Given the description of an element on the screen output the (x, y) to click on. 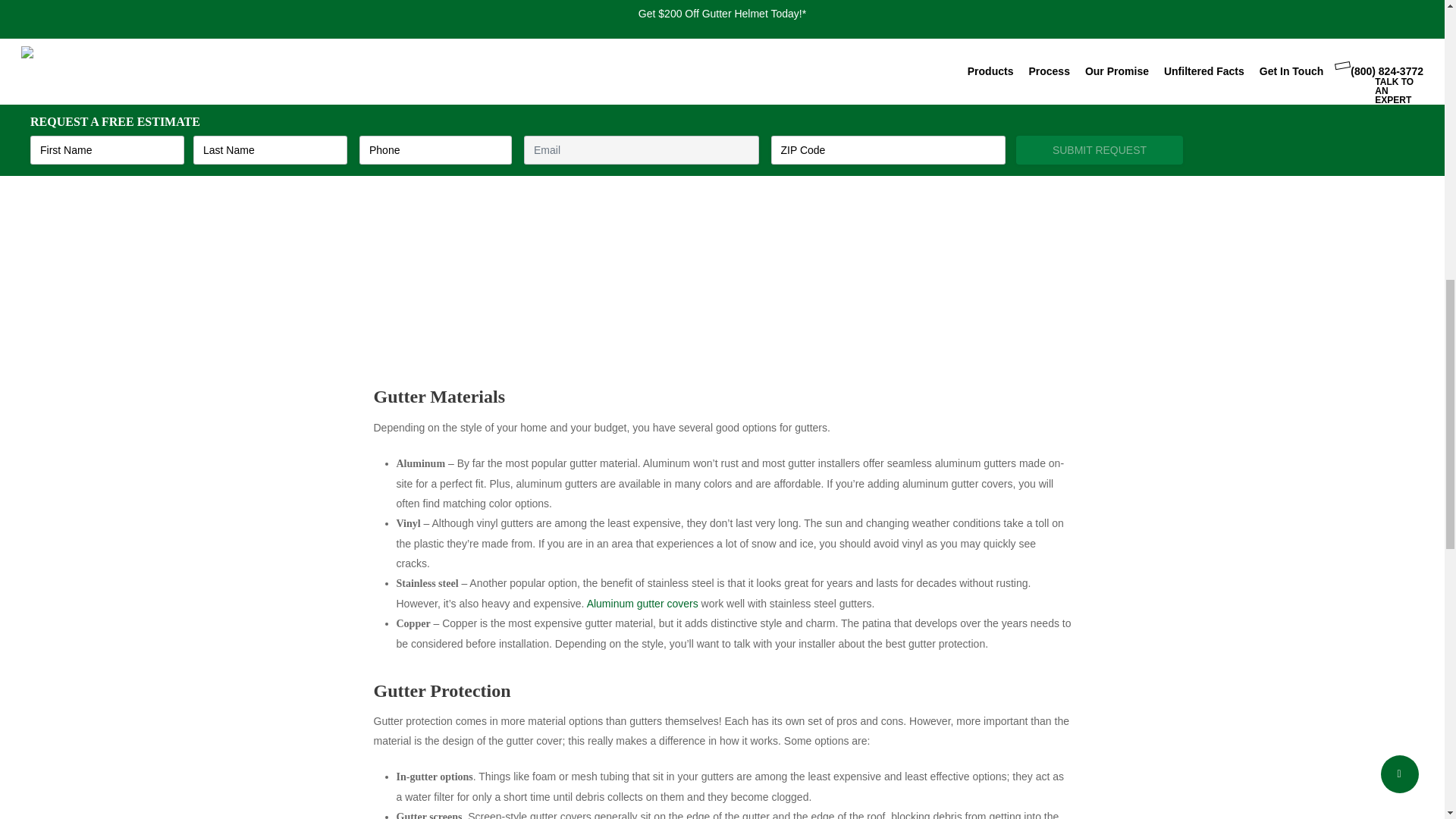
Aluminum gutter covers (642, 603)
